Given the description of an element on the screen output the (x, y) to click on. 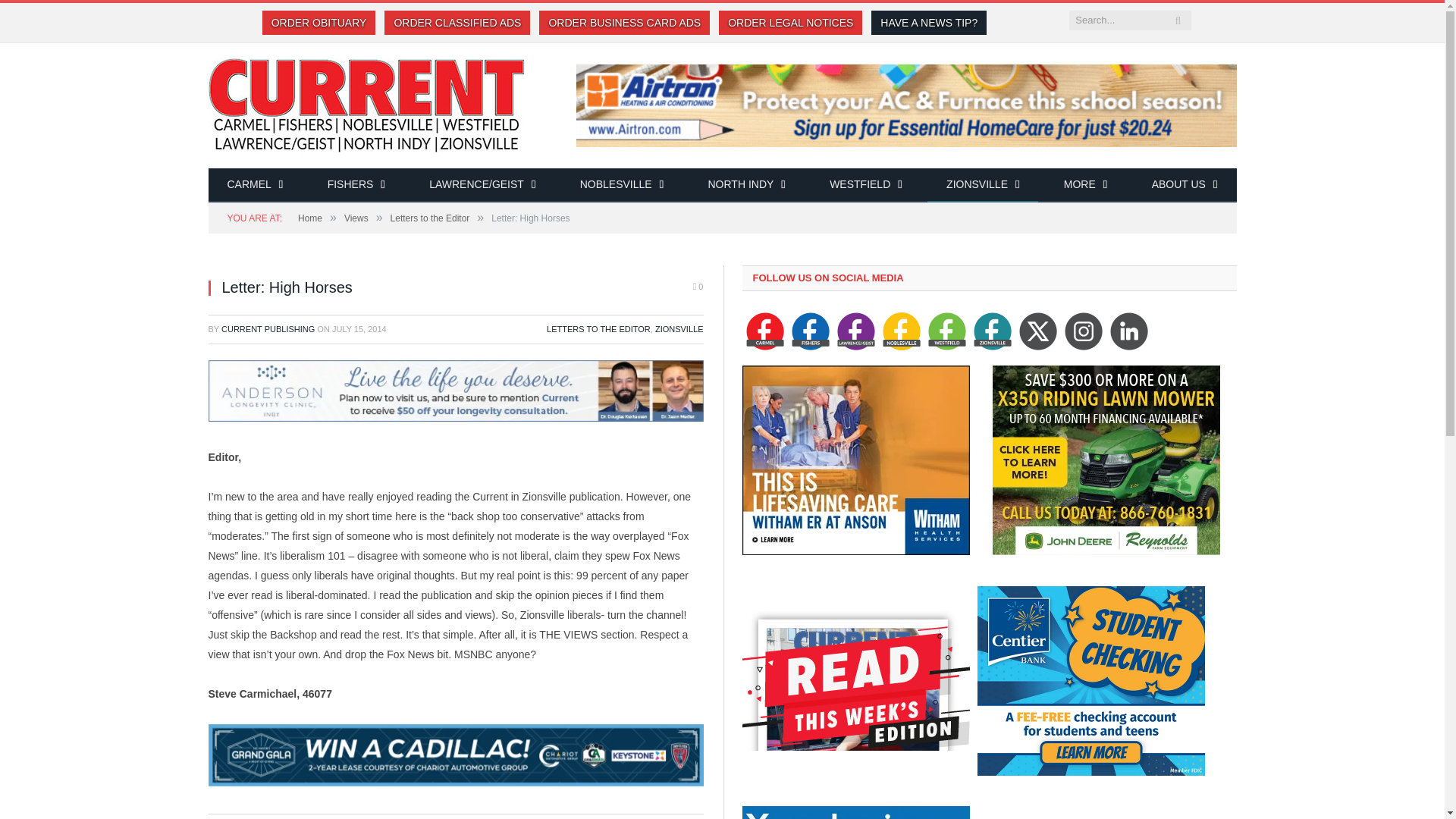
2014-07-15 (359, 328)
Current in Carmel Twitter (1128, 331)
NOBLESVILLE (621, 185)
FISHERS (356, 185)
Current in Carmel Twitter (1038, 331)
NORTH INDY (745, 185)
Current in Fishers Facebook (810, 331)
ORDER BUSINESS CARD ADS (624, 22)
Current in Noblesville Facebook (901, 331)
Current in Westfield Facebook (947, 331)
